Given the description of an element on the screen output the (x, y) to click on. 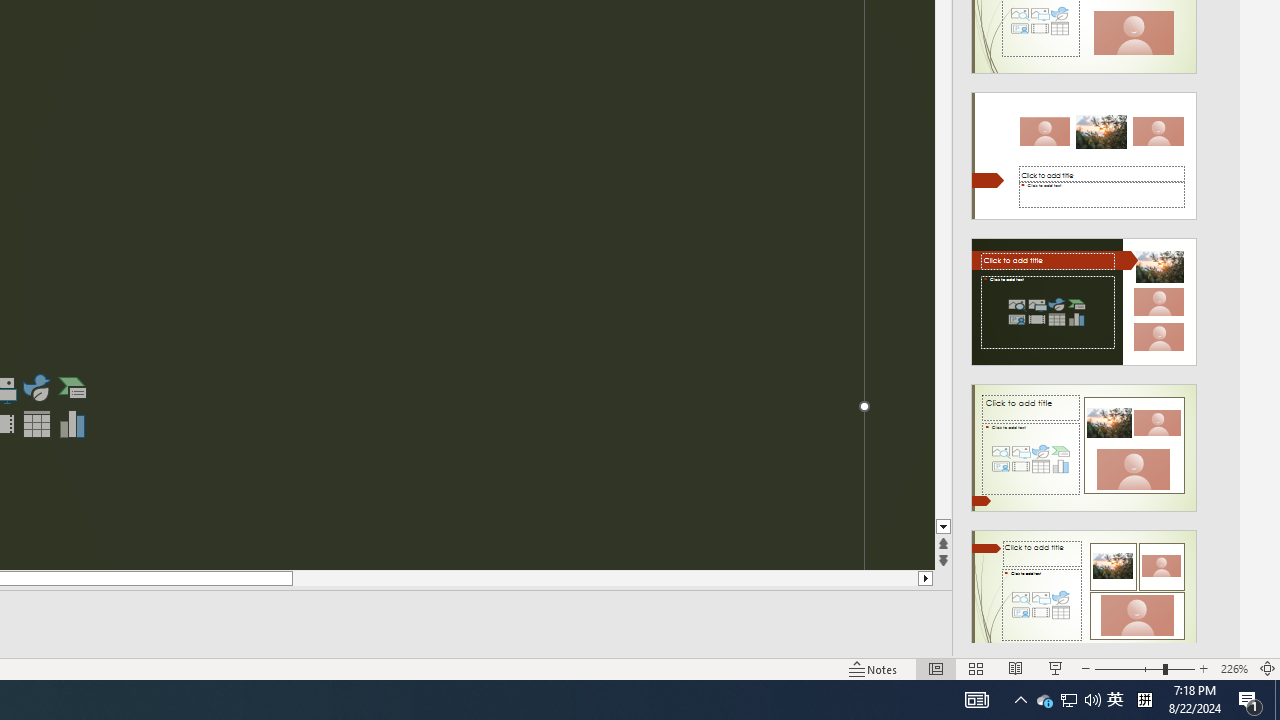
Design Idea (1083, 587)
Action Center, 1 new notification (1250, 699)
Zoom 226% (1234, 668)
Insert Chart (73, 423)
